Given the description of an element on the screen output the (x, y) to click on. 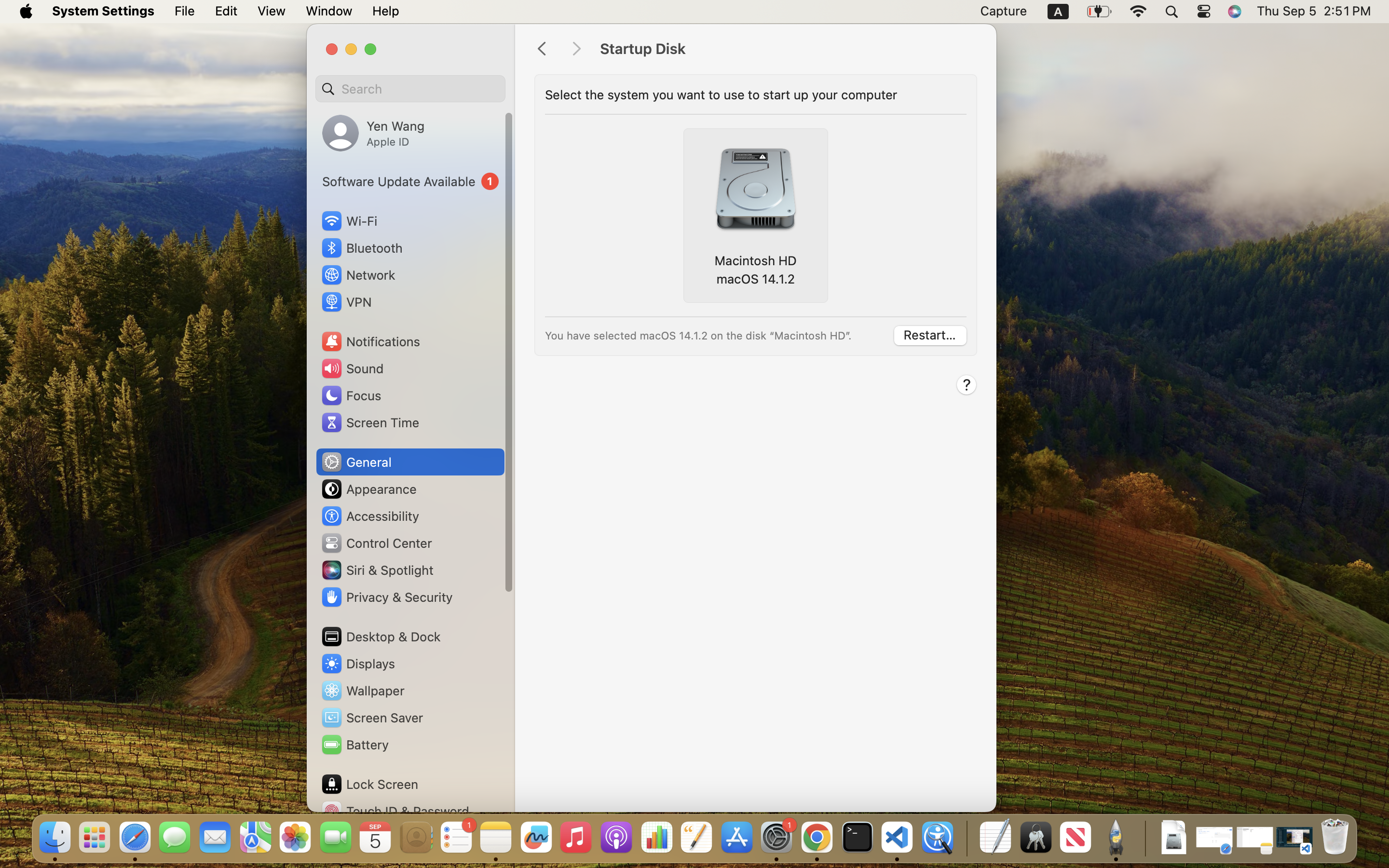
Notifications Element type: AXStaticText (370, 340)
Macintosh HD Element type: AXStaticText (755, 260)
Lock Screen Element type: AXStaticText (369, 783)
Siri & Spotlight Element type: AXStaticText (376, 569)
General Element type: AXStaticText (355, 461)
